Given the description of an element on the screen output the (x, y) to click on. 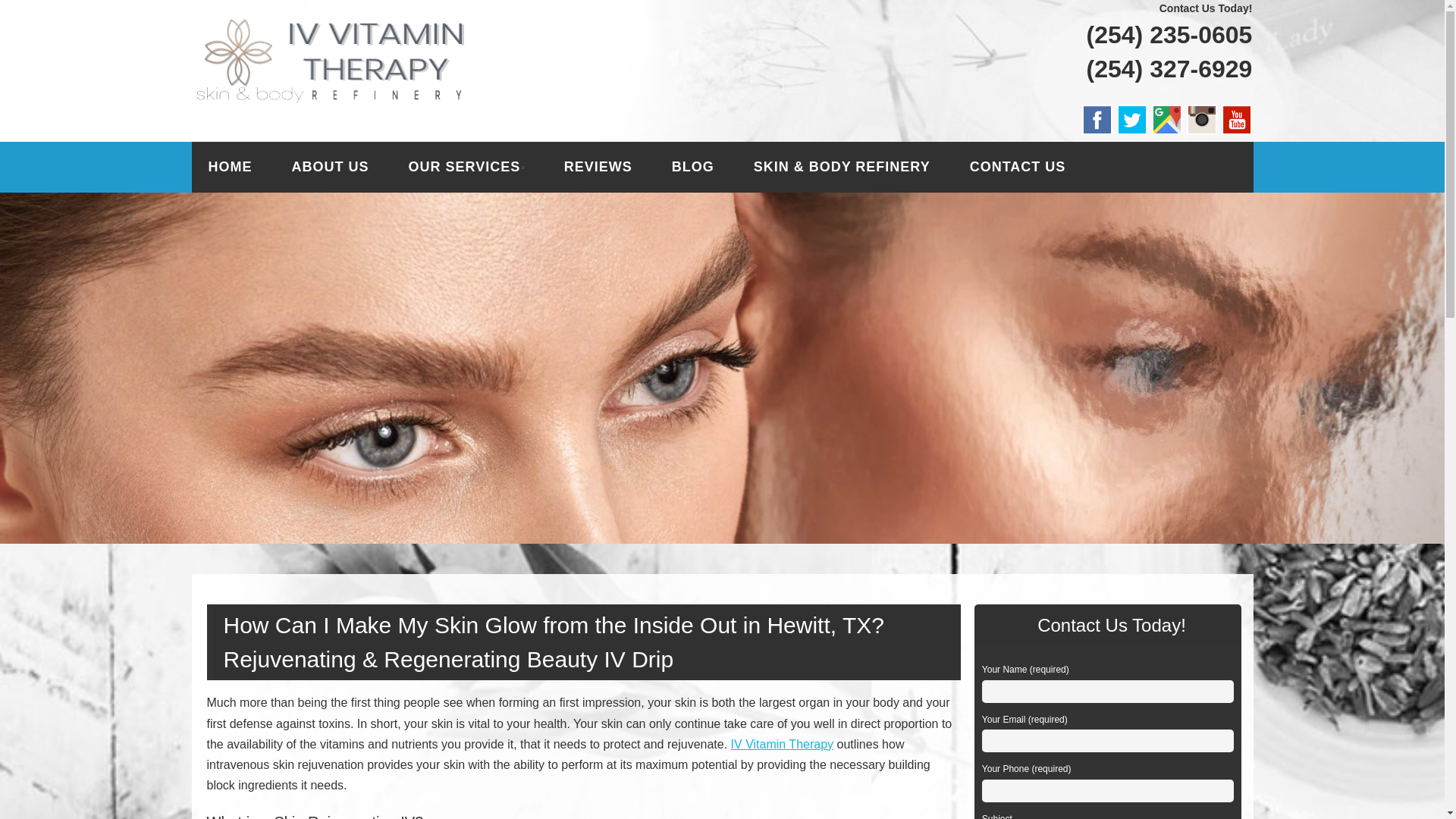
BLOG (692, 167)
IV VITAMIN THERAPY (364, 35)
HOME (229, 167)
IV Vitamin Therapy (364, 35)
CONTACT US (1018, 167)
ABOUT US (329, 167)
OUR SERVICES (465, 167)
REVIEWS (598, 167)
IV Vitamin Therapy (781, 744)
